Given the description of an element on the screen output the (x, y) to click on. 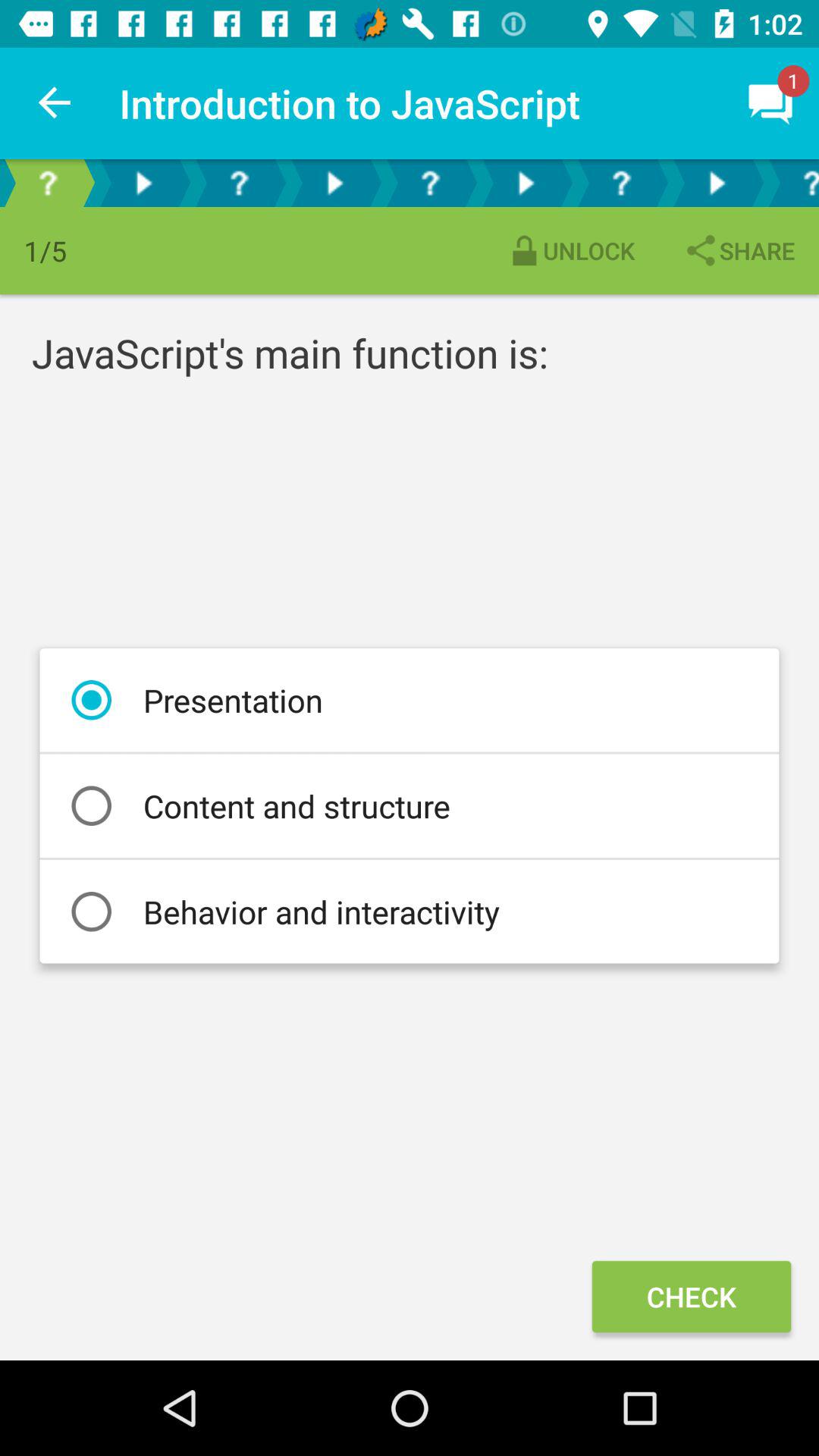
watch video 4 (716, 183)
